Given the description of an element on the screen output the (x, y) to click on. 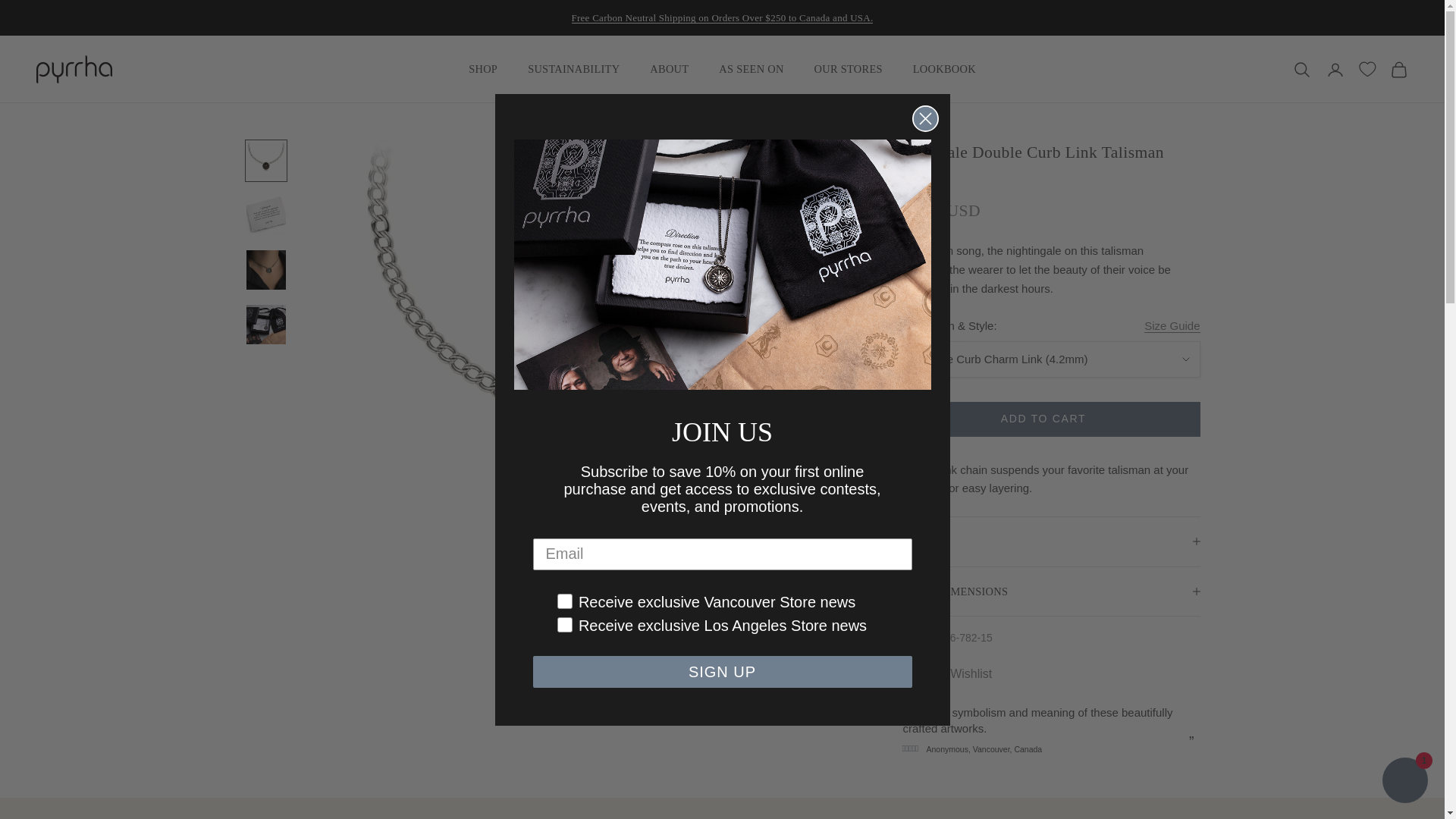
Pyrrha (74, 69)
Shipping (722, 17)
5 Stars (1218, 732)
5 Stars (910, 747)
Close dialog 2 (924, 117)
